Given the description of an element on the screen output the (x, y) to click on. 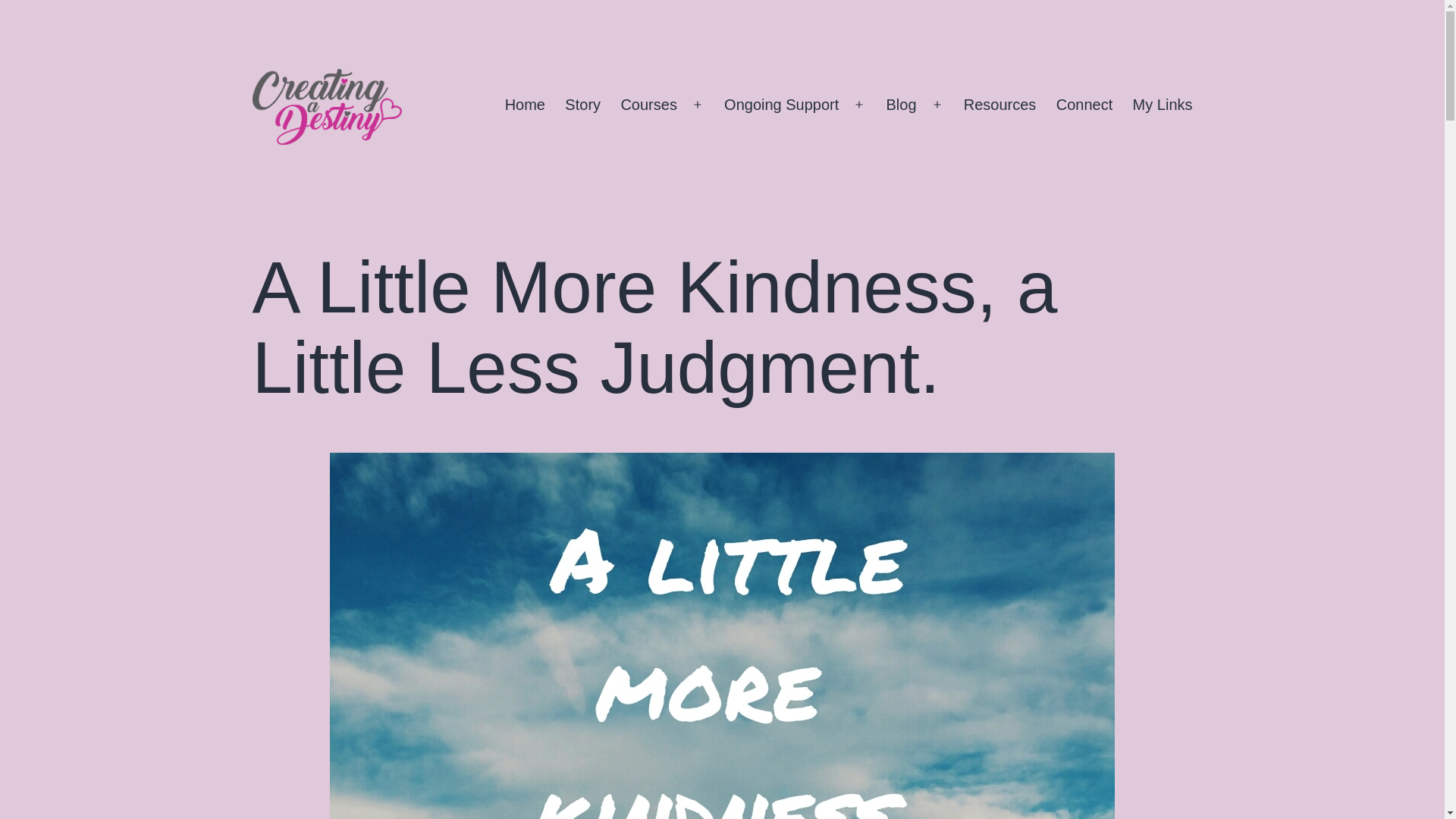
Connect (1084, 105)
Home (524, 105)
Courses (648, 105)
Resources (999, 105)
My Links (1162, 105)
Blog (901, 105)
Ongoing Support (781, 105)
Story (582, 105)
